Given the description of an element on the screen output the (x, y) to click on. 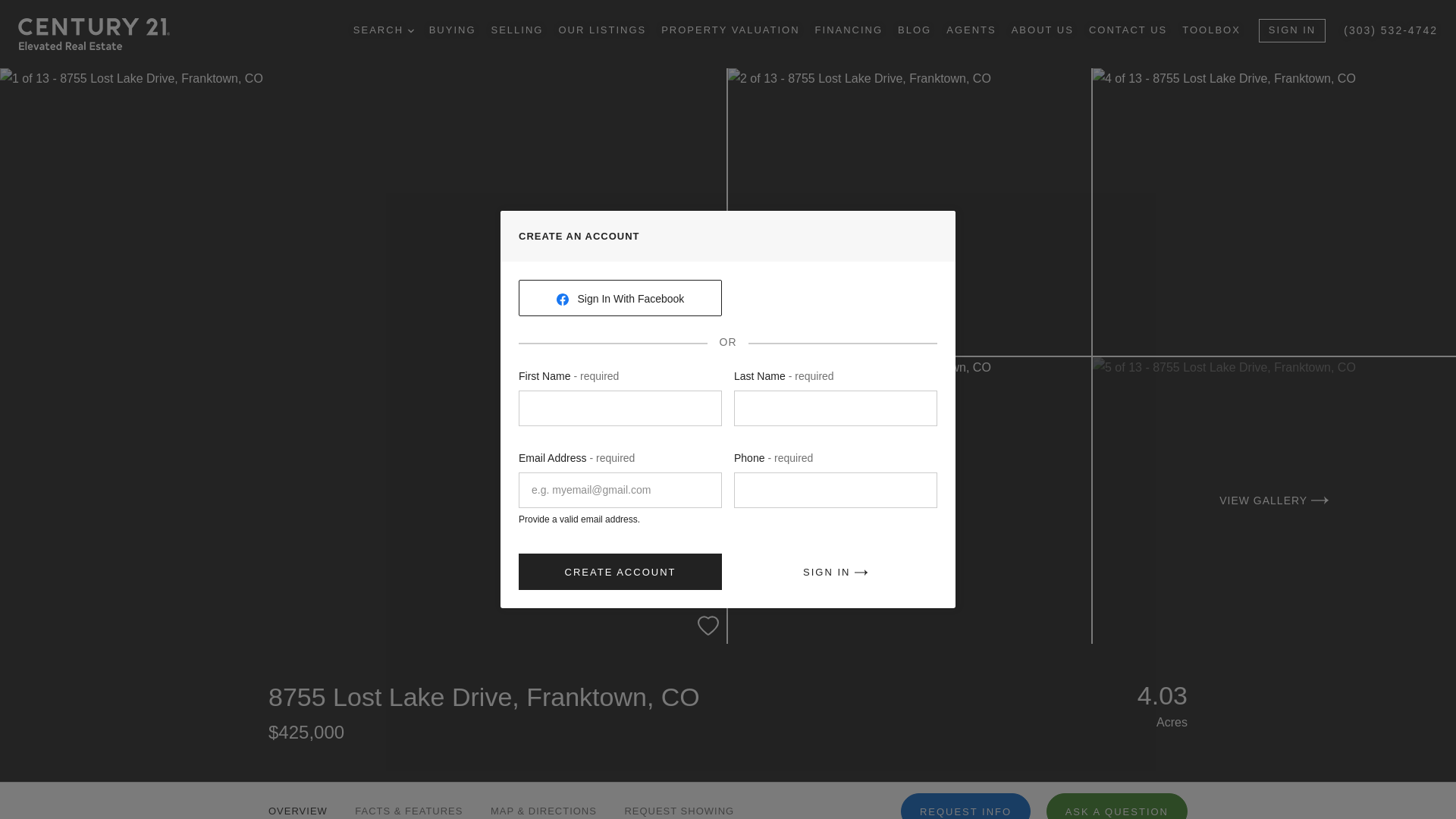
SIGN IN (1291, 30)
CONTACT US (1128, 30)
ASK A QUESTION (1117, 806)
ABOUT US (1042, 30)
OUR LISTINGS (601, 30)
OVERVIEW (297, 800)
REQUEST SHOWING (678, 800)
AGENTS (970, 30)
DROPDOWN ARROW (410, 30)
BLOG (914, 30)
SEARCH DROPDOWN ARROW (383, 30)
PROPERTY VALUATION (730, 30)
REQUEST INFO (965, 806)
TOOLBOX (1211, 30)
BUYING (452, 30)
